Given the description of an element on the screen output the (x, y) to click on. 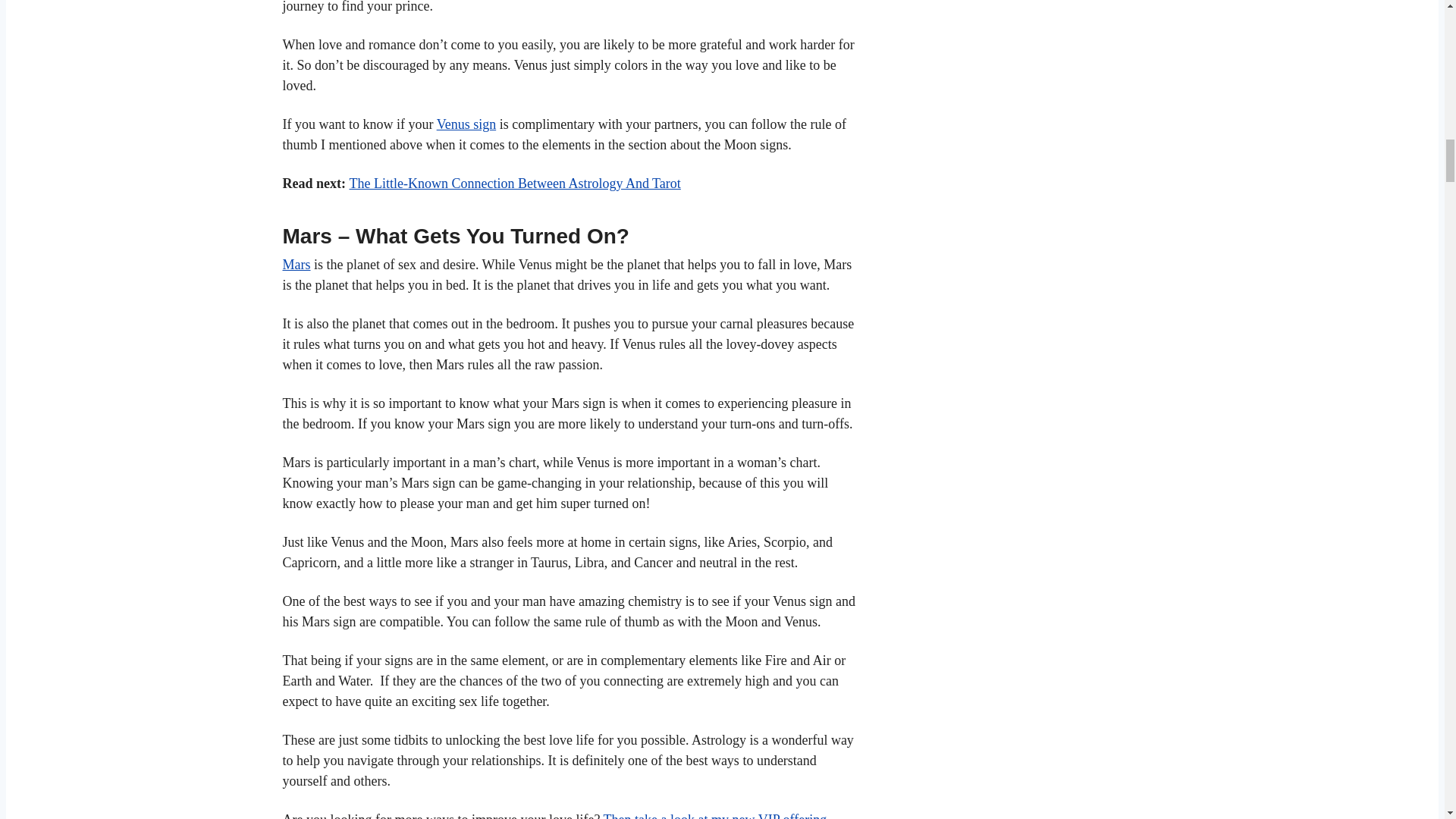
Venus sign (466, 124)
The Little-Known Connection Between Astrology And Tarot (514, 183)
Mars (296, 264)
Then take a look at my new VIP offering (715, 815)
